Given the description of an element on the screen output the (x, y) to click on. 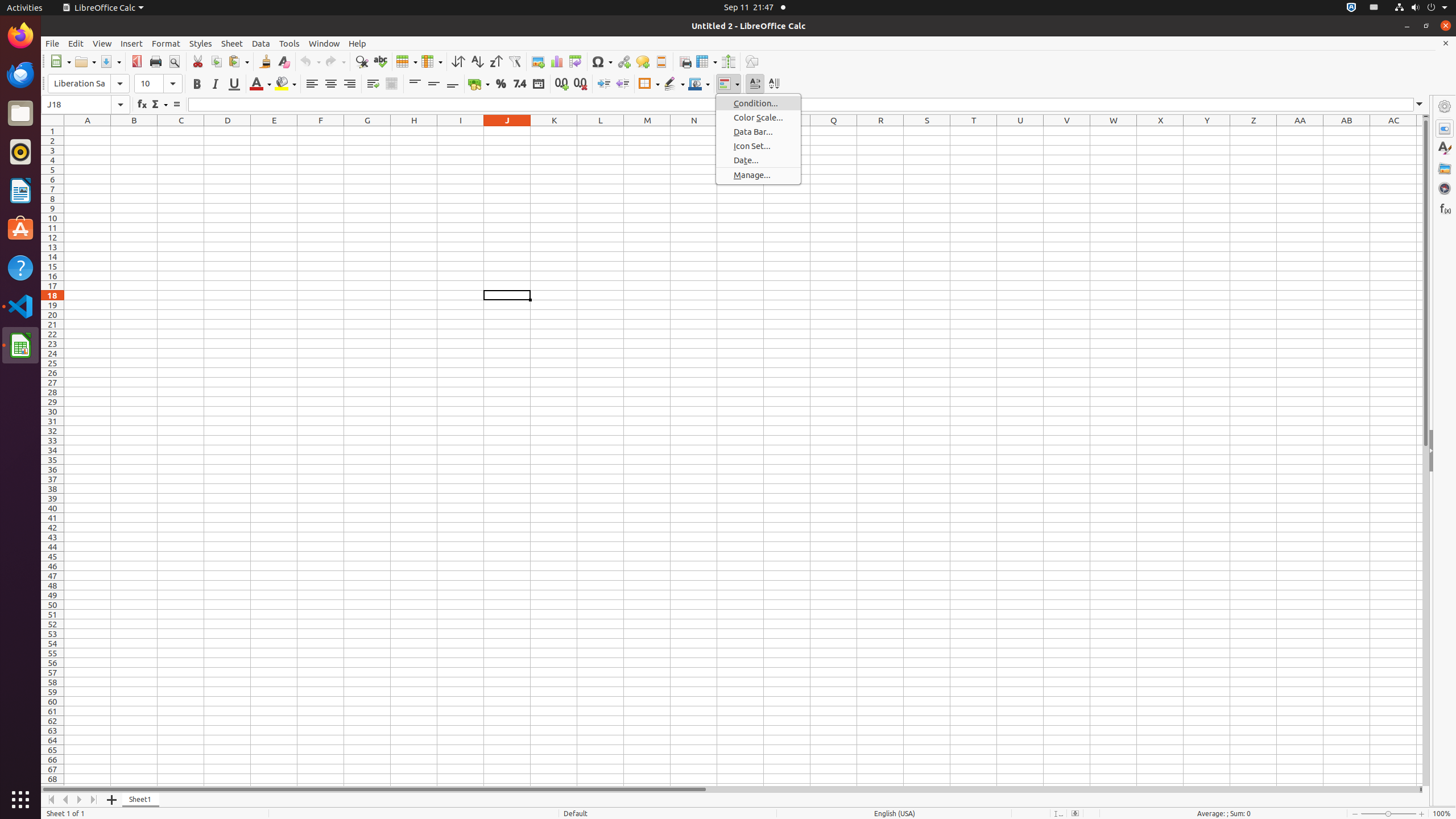
Activities Element type: label (24, 7)
